Given the description of an element on the screen output the (x, y) to click on. 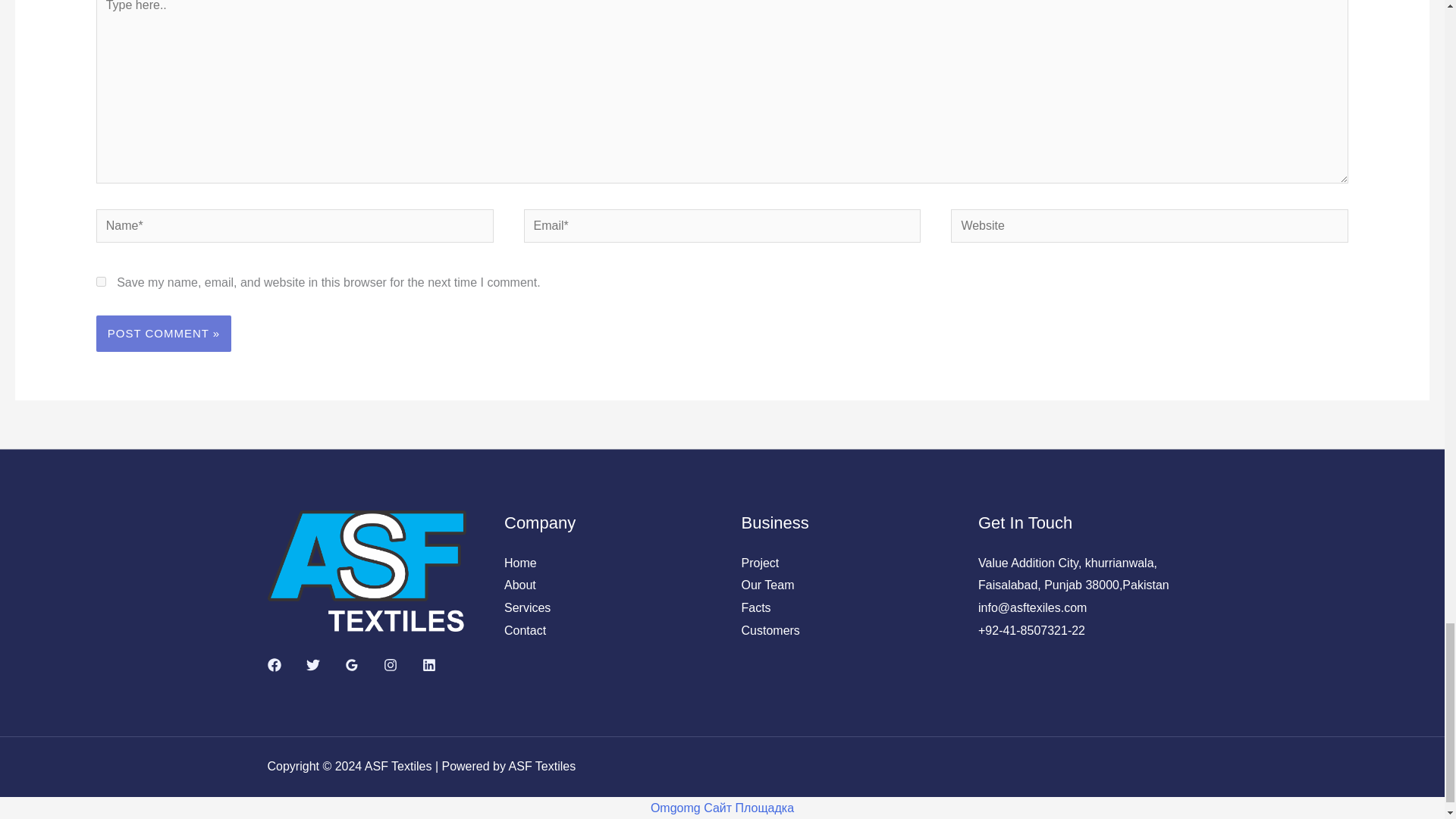
Customers (770, 630)
Services (526, 607)
yes (101, 281)
Contact (524, 630)
Project (759, 562)
Home (520, 562)
Our Team (767, 584)
About (519, 584)
Facts (756, 607)
